Given the description of an element on the screen output the (x, y) to click on. 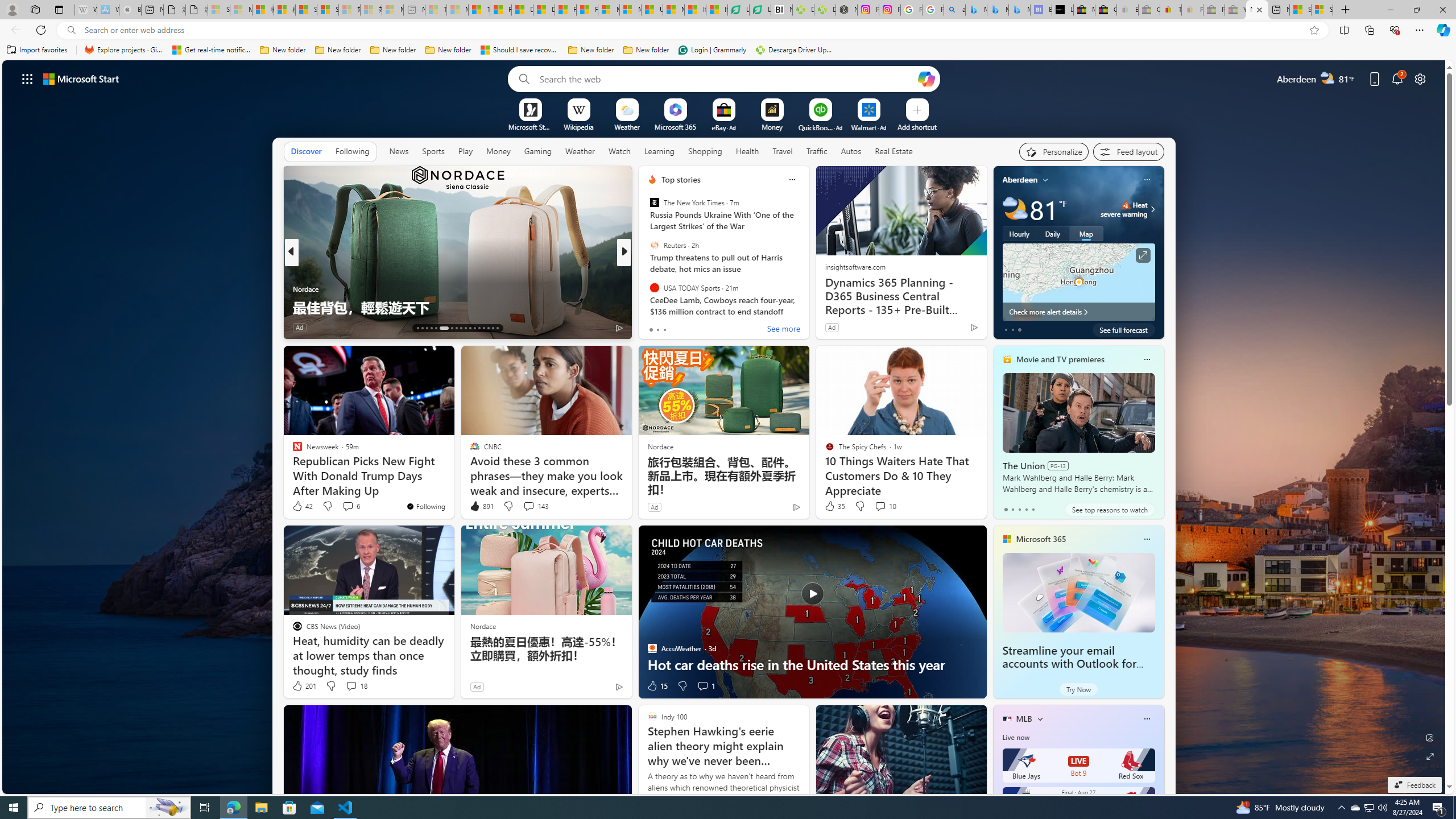
AutomationID: tab-13 (417, 328)
115 Like (654, 327)
Daily (1052, 233)
View comments 8 Comment (698, 327)
Sign in to your Microsoft account - Sleeping (218, 9)
tab-0 (1005, 509)
